Given the description of an element on the screen output the (x, y) to click on. 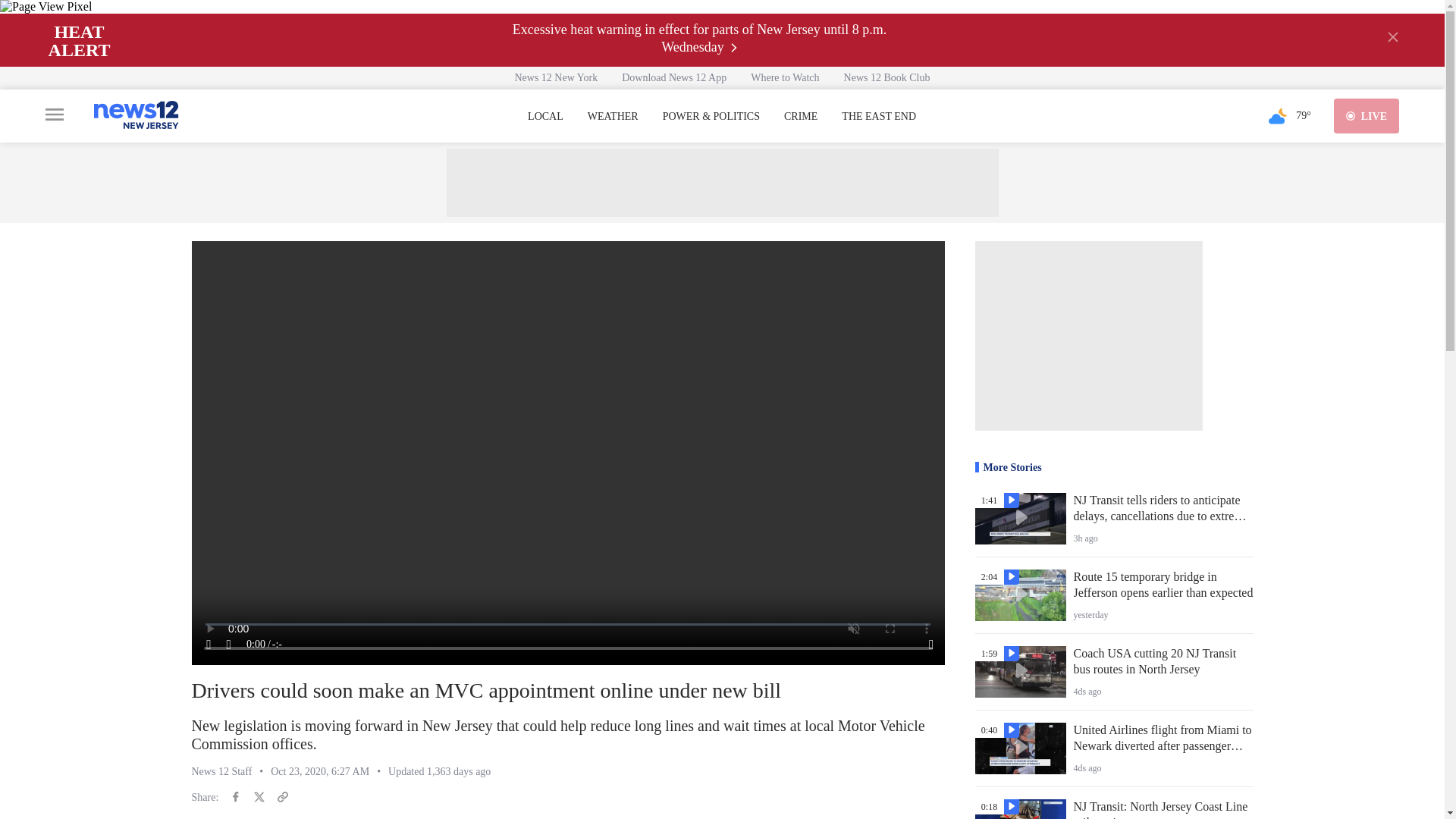
LOCAL (545, 116)
News 12 New York (556, 78)
WEATHER (613, 116)
News 12 Book Club (886, 78)
THE EAST END (878, 116)
Download News 12 App (673, 78)
Partly Cloudy Night (1277, 115)
Where to Watch (784, 78)
LIVE (1366, 115)
CRIME (800, 116)
